Given the description of an element on the screen output the (x, y) to click on. 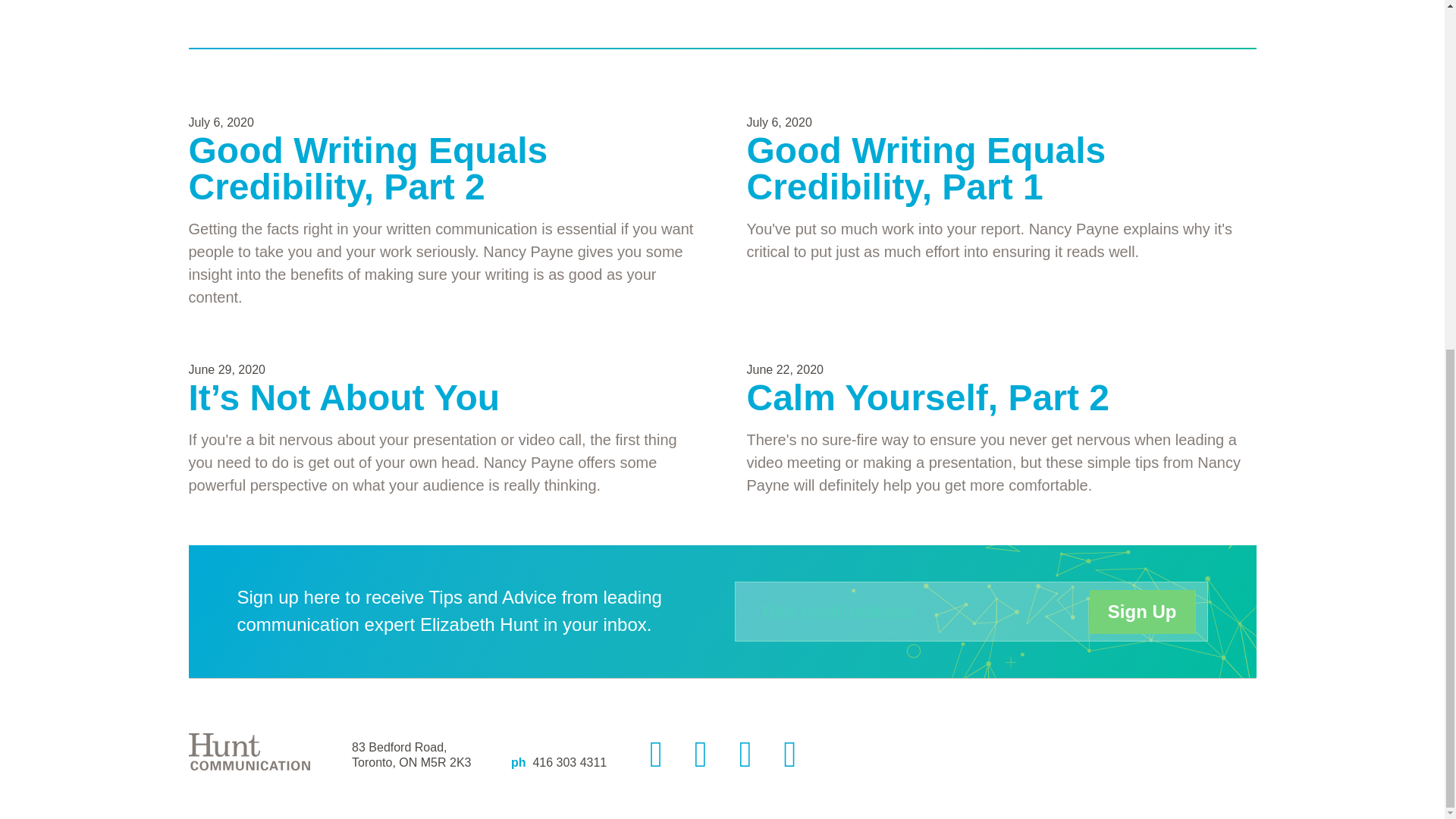
Sign Up (1142, 611)
416 303 4311 (569, 762)
Hunt Communication (249, 752)
